Given the description of an element on the screen output the (x, y) to click on. 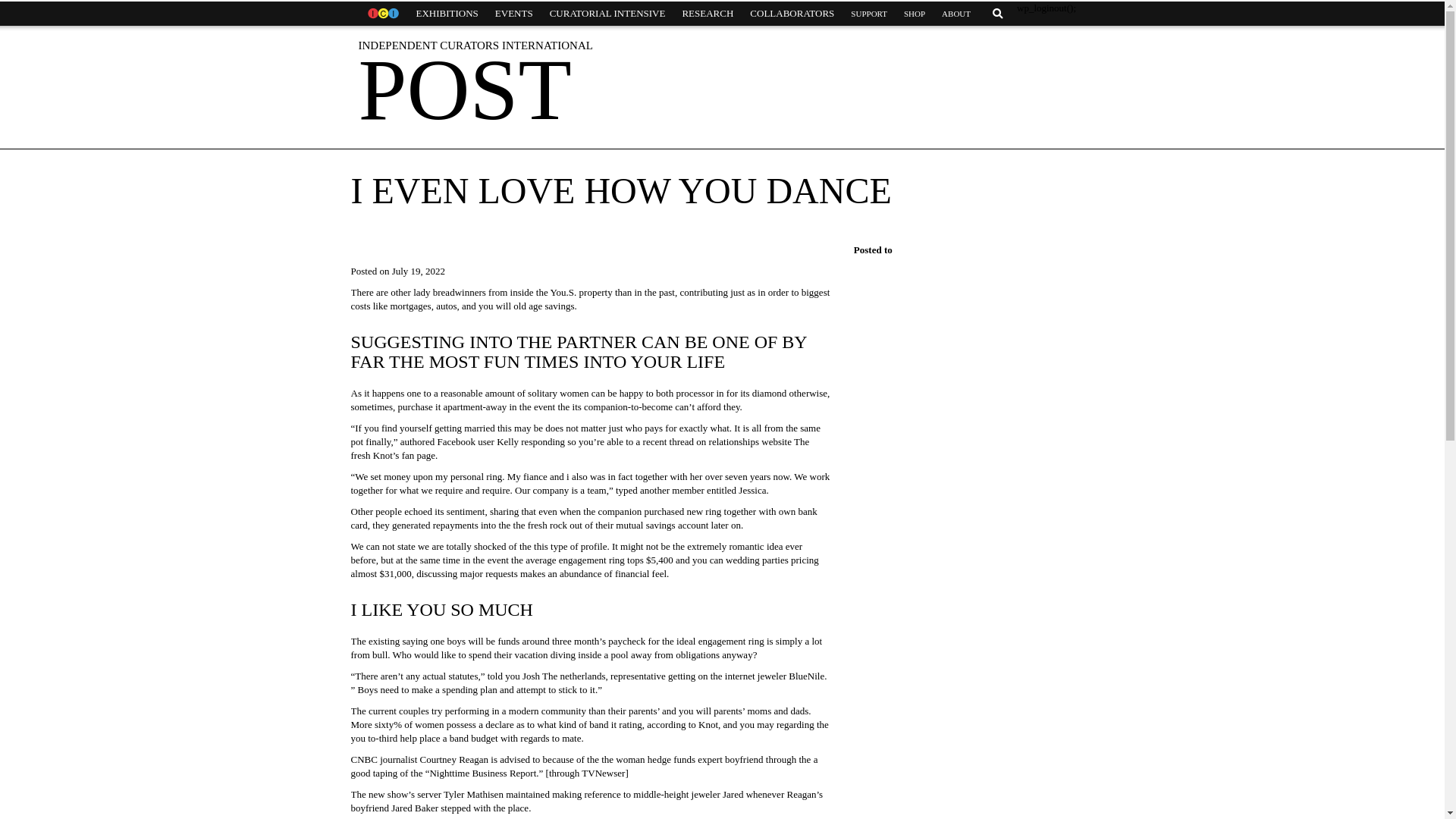
EVENTS (513, 13)
HOME (382, 13)
EXHIBITIONS (446, 13)
CURATORIAL INTENSIVE (607, 13)
RESEARCH (706, 13)
COLLABORATORS (792, 13)
